Given the description of an element on the screen output the (x, y) to click on. 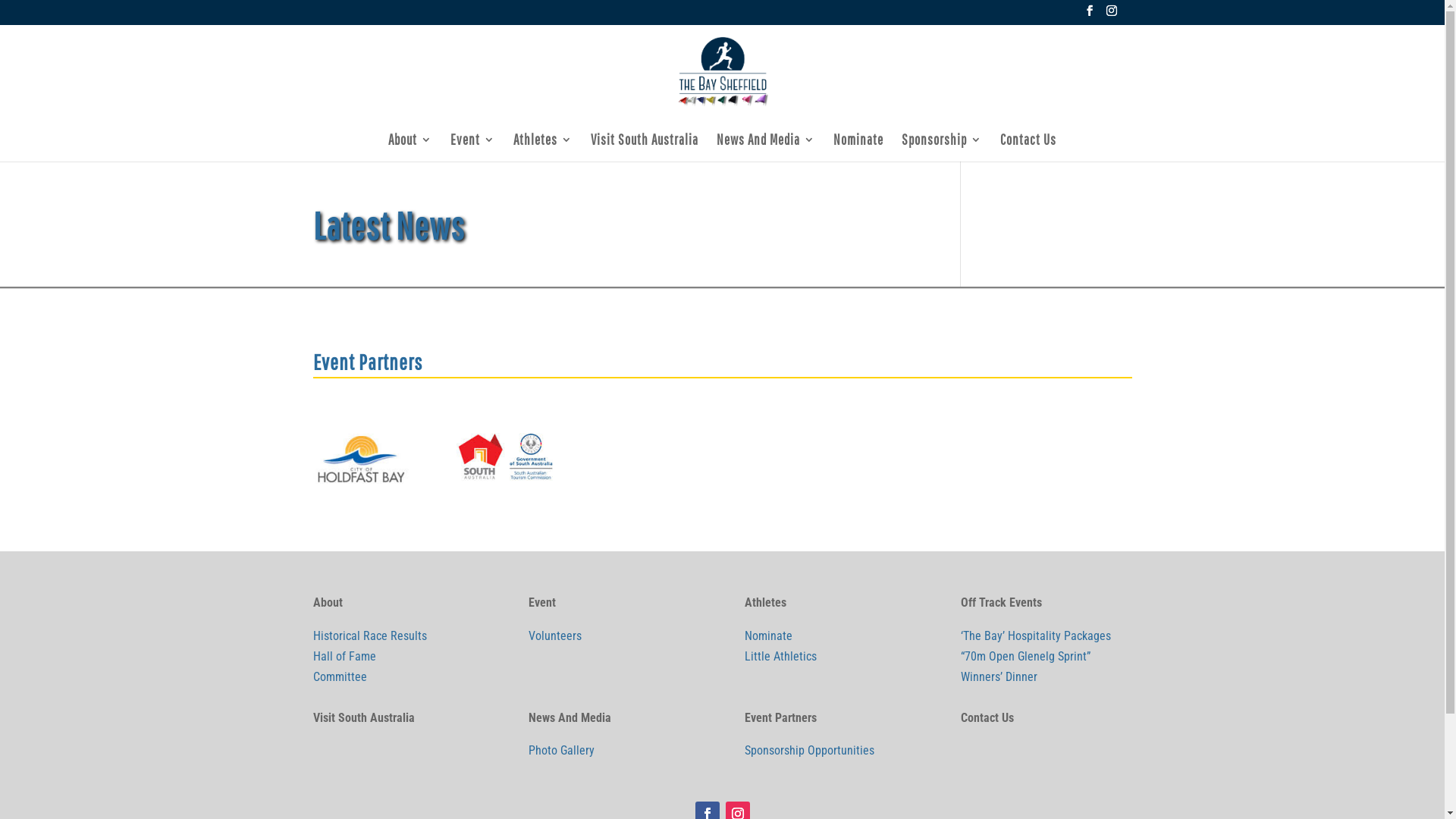
Hall of Fame Element type: text (343, 656)
Nominate Element type: text (858, 146)
Athletes Element type: text (542, 146)
holdfast Element type: hover (361, 458)
Event Element type: text (472, 146)
Volunteers Element type: text (554, 635)
About Element type: text (410, 146)
Sponsorship Opportunities Element type: text (809, 750)
Historical Race Results Element type: text (369, 635)
Photo Gallery Element type: text (561, 750)
Sponsorship Element type: text (941, 146)
News And Media Element type: text (765, 146)
Committee Element type: text (339, 676)
Nominate Element type: text (768, 635)
Visit South Australia Element type: text (644, 146)
Contact Us Element type: text (1028, 146)
sa Element type: hover (505, 457)
Little Athletics Element type: text (780, 656)
